Given the description of an element on the screen output the (x, y) to click on. 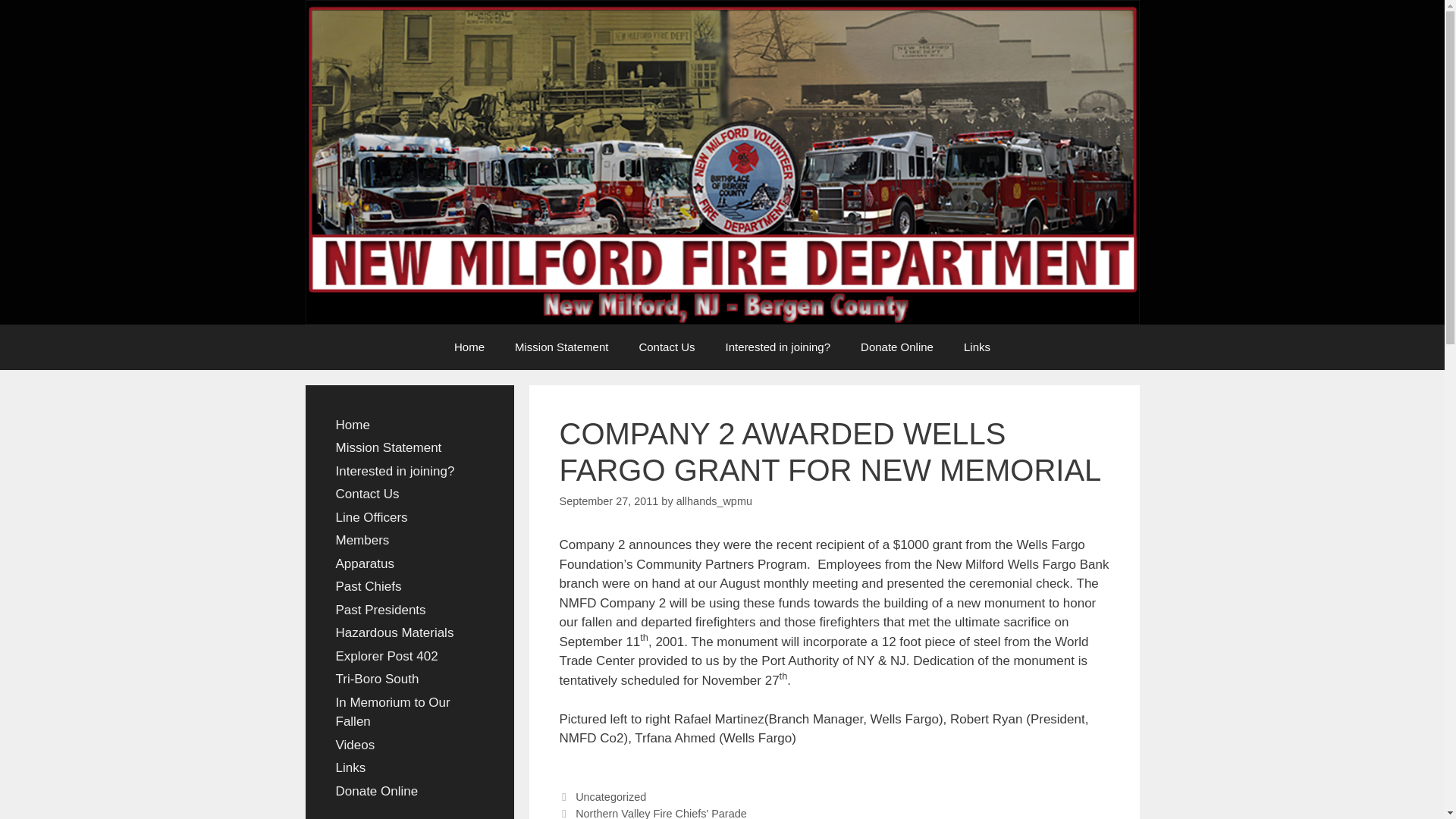
Explorer Post 402 (386, 656)
Apparatus (364, 563)
Videos (354, 744)
In Memorium to Our Fallen (391, 712)
Mission Statement (387, 447)
Interested in joining? (394, 471)
Contact Us (366, 493)
Northern Valley Fire Chiefs' Parade (660, 813)
Interested in joining? (777, 347)
Past Chiefs (367, 586)
Links (349, 767)
Links (977, 347)
Hazardous Materials (393, 632)
Tri-Boro South (376, 678)
Donate Online (897, 347)
